Given the description of an element on the screen output the (x, y) to click on. 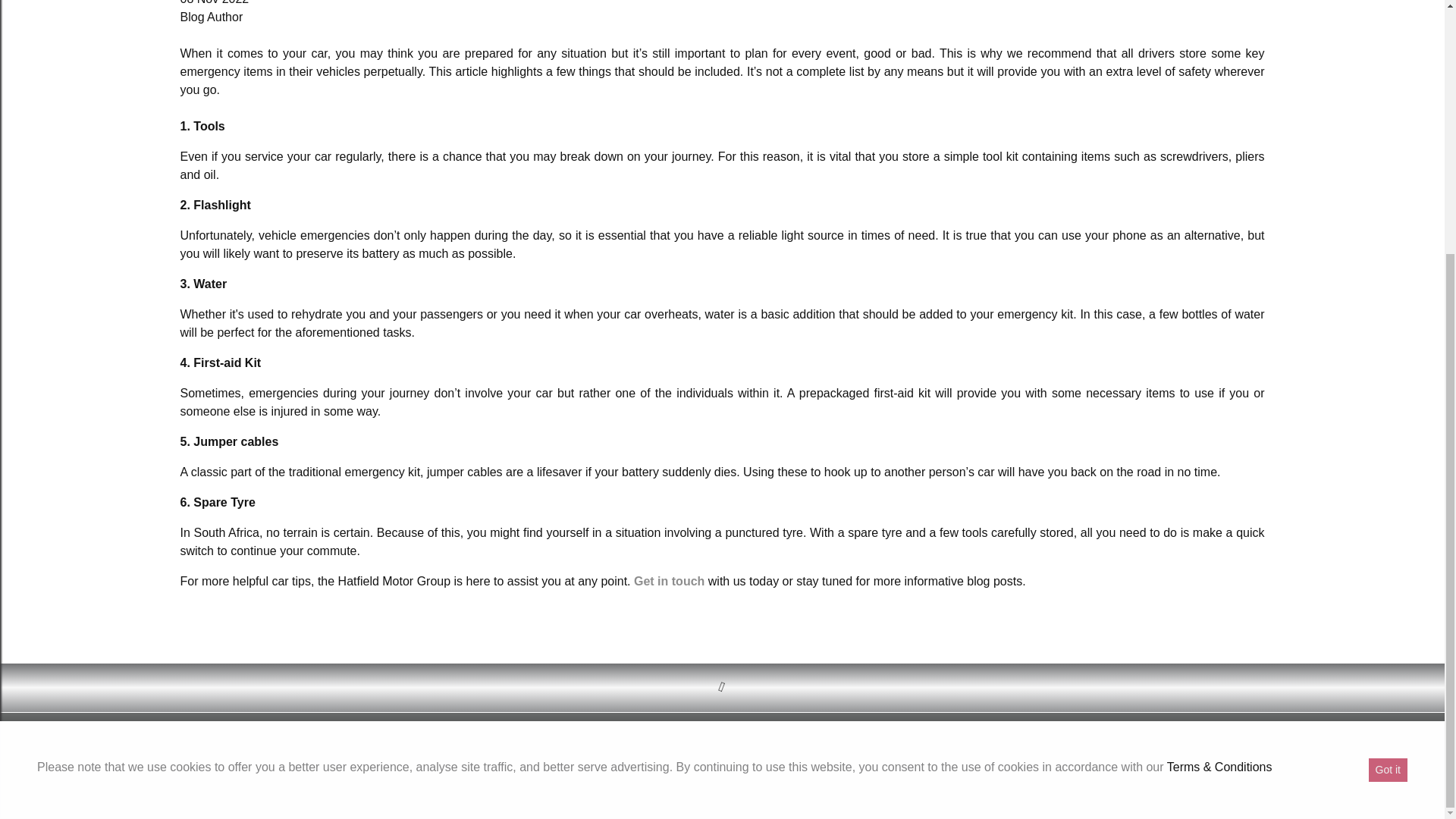
Got it (1387, 410)
Get in touch (668, 581)
iX Online Motoring (718, 790)
iX Online Motoring (722, 788)
